Given the description of an element on the screen output the (x, y) to click on. 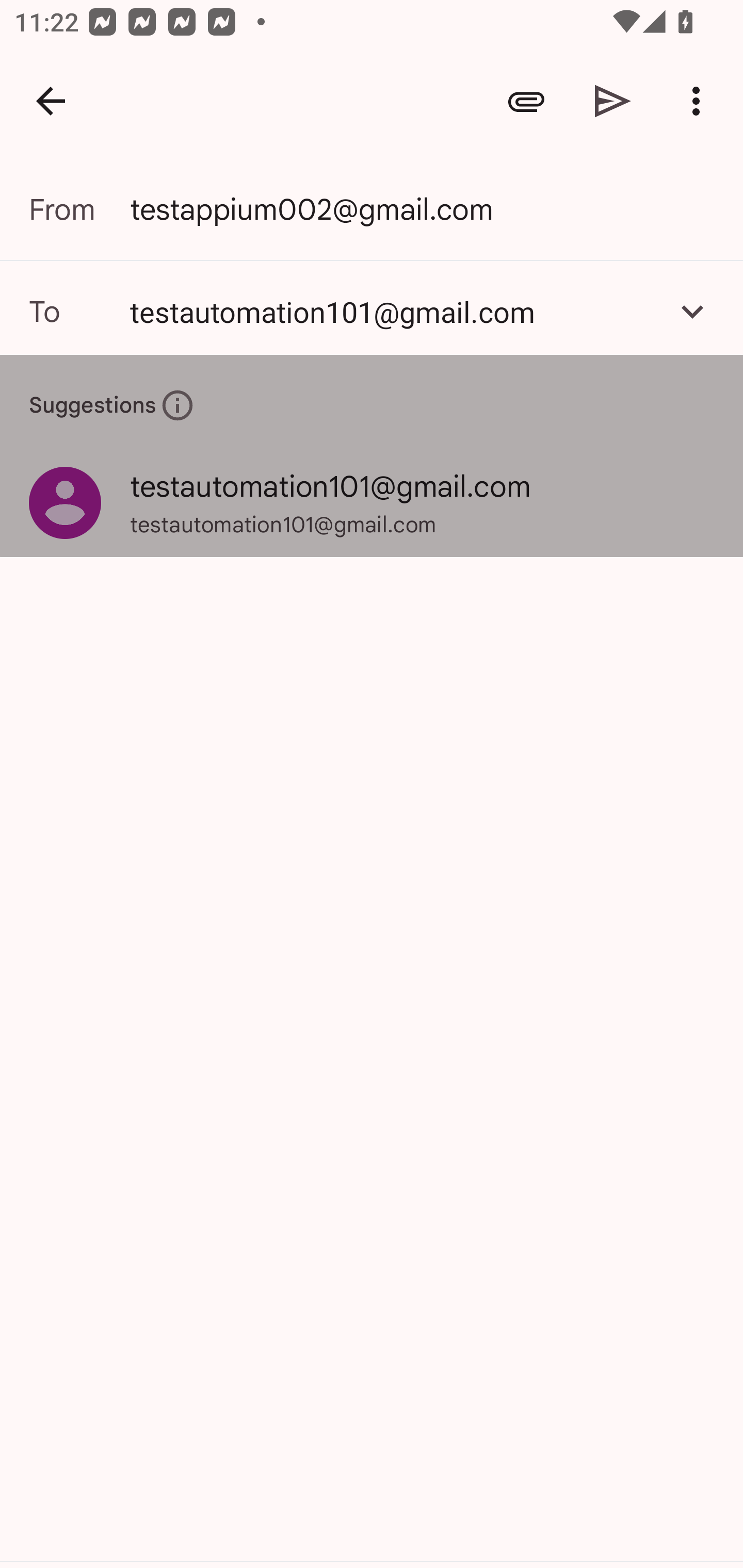
Navigate up (50, 101)
Attach file (525, 101)
Send (612, 101)
More options (699, 101)
From (79, 209)
Add Cc/Bcc (692, 311)
testautomation101@gmail.com (371, 311)
testautomation101@gmail.com (393, 311)
